Given the description of an element on the screen output the (x, y) to click on. 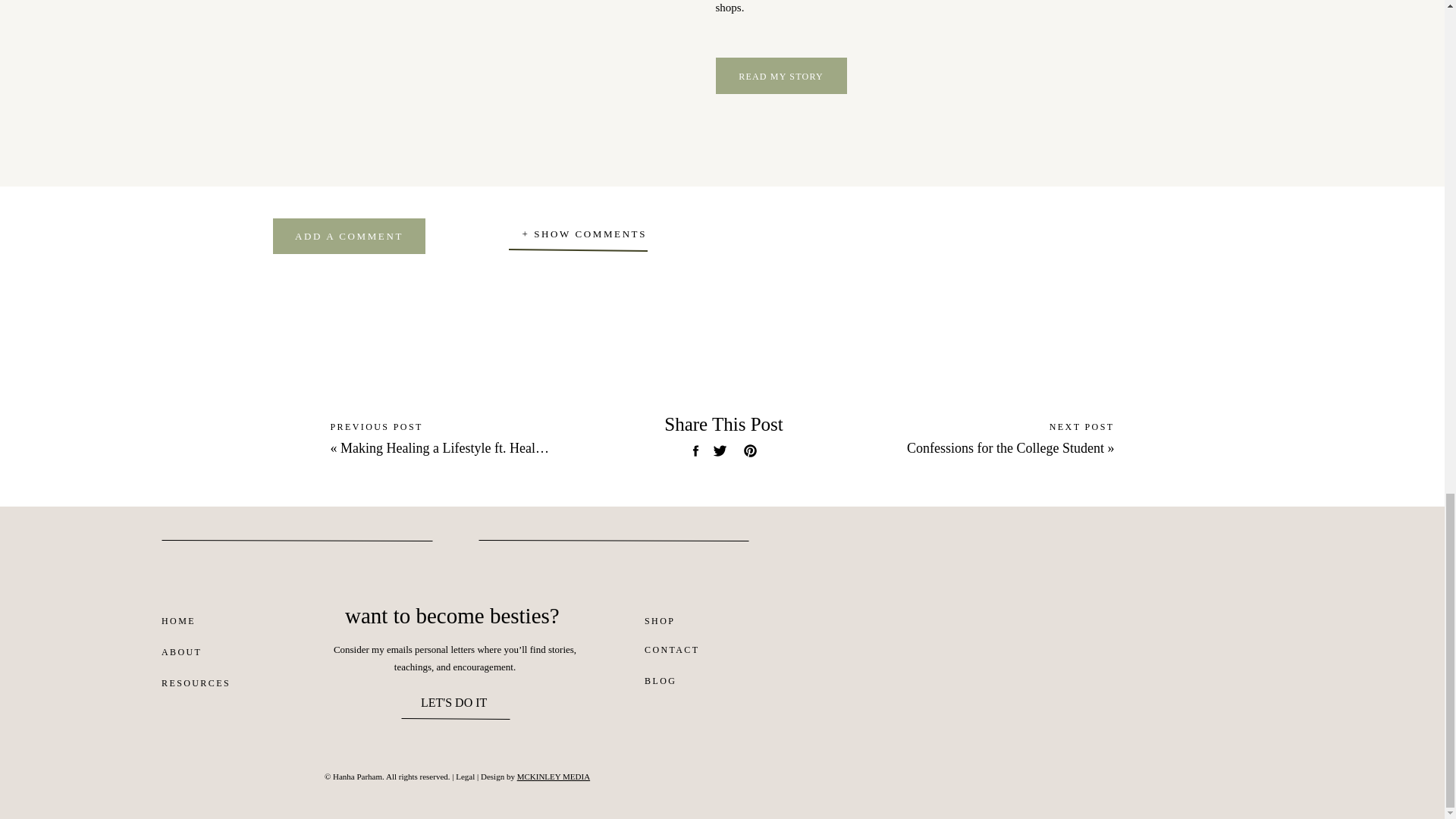
Confessions for the College Student (1005, 447)
ABOUT (182, 655)
Making Healing a Lifestyle ft. Healing in Motion (475, 447)
Share This Post (723, 426)
READ MY STORY (780, 76)
HOME (189, 624)
